Given the description of an element on the screen output the (x, y) to click on. 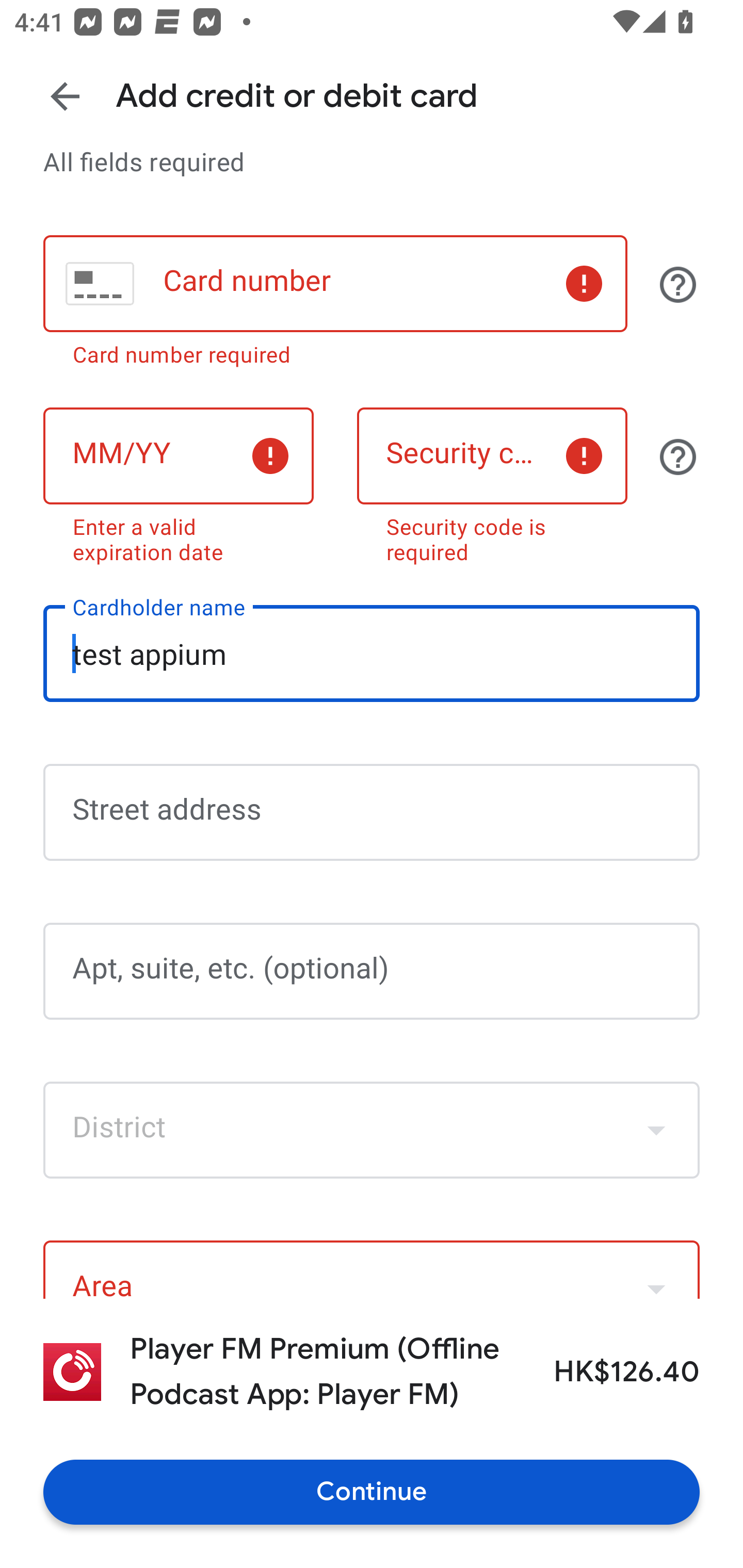
Back (64, 96)
Card number (335, 283)
Button, shows cards that are accepted for payment (677, 284)
Security code Error Security code is required (492, 482)
Expiration date, 2 digit month, 2 digit year (178, 455)
Security code (492, 455)
Security code help (677, 456)
test appium (371, 653)
Street address (371, 811)
Apt, suite, etc. (optional) (371, 970)
District (371, 1130)
Show dropdown menu (655, 1129)
Area (371, 1269)
Show dropdown menu (655, 1271)
Continue (371, 1491)
